Given the description of an element on the screen output the (x, y) to click on. 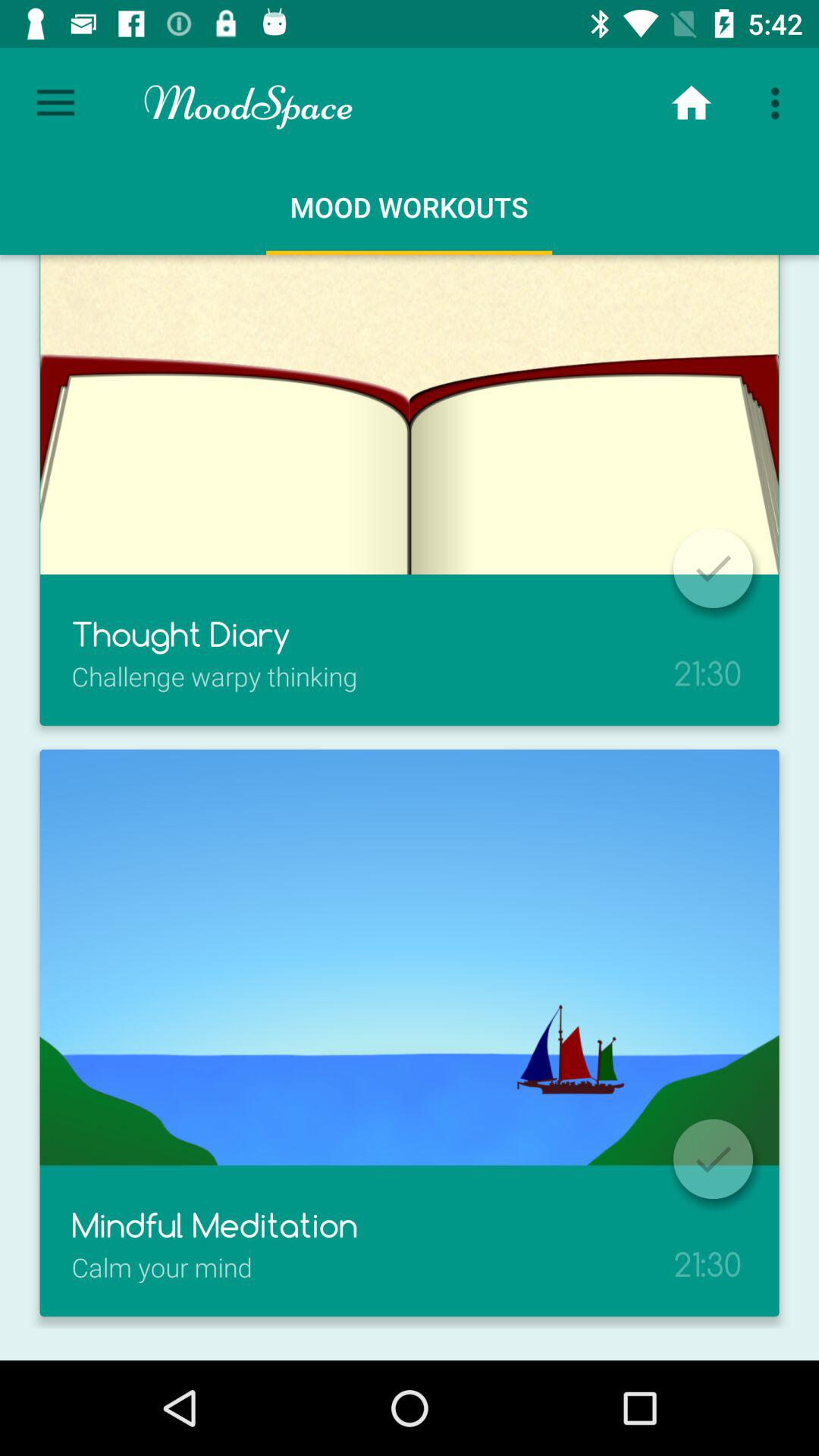
toggle tick option (713, 1159)
